Given the description of an element on the screen output the (x, y) to click on. 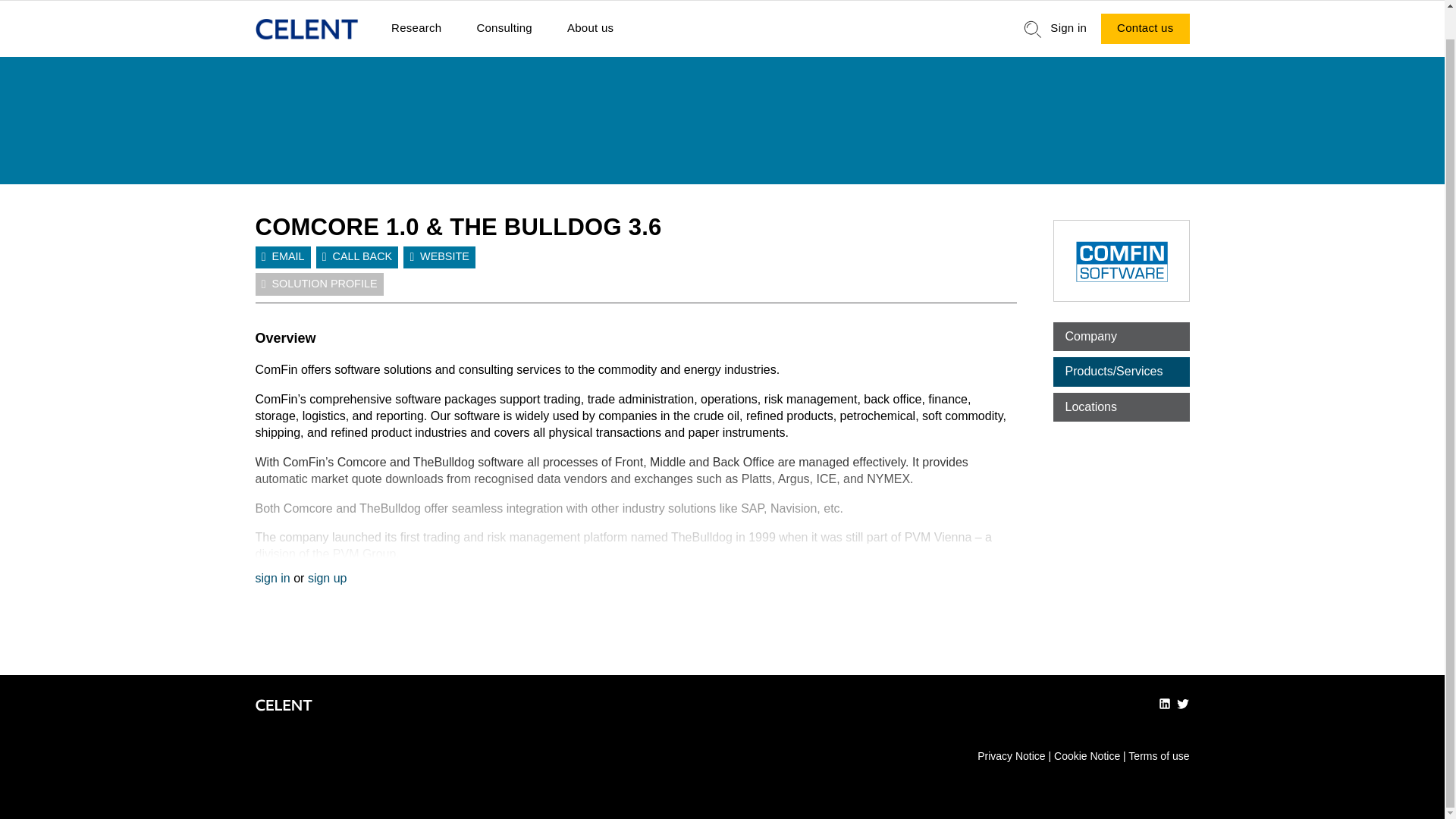
Consulting (503, 29)
About us (590, 29)
search (1032, 28)
Company (1120, 336)
Sign in (1068, 29)
Contact us (1144, 28)
Research (415, 29)
Home (306, 29)
